Given the description of an element on the screen output the (x, y) to click on. 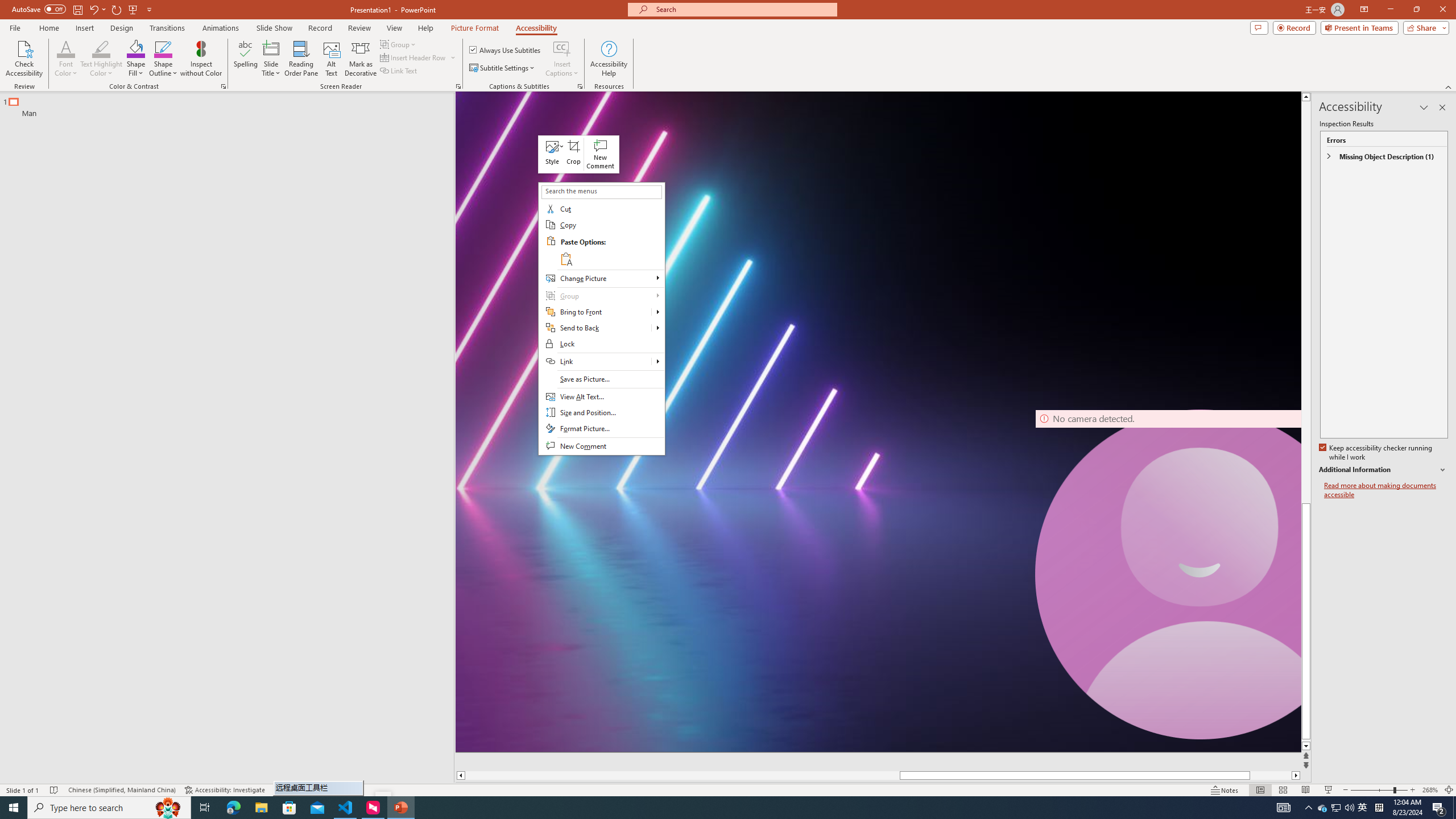
Size and Position... (600, 412)
Reading Order Pane (301, 58)
Picture Format (475, 28)
Class: NetUIToolWindow (578, 154)
Color & Contrast (223, 85)
